Given the description of an element on the screen output the (x, y) to click on. 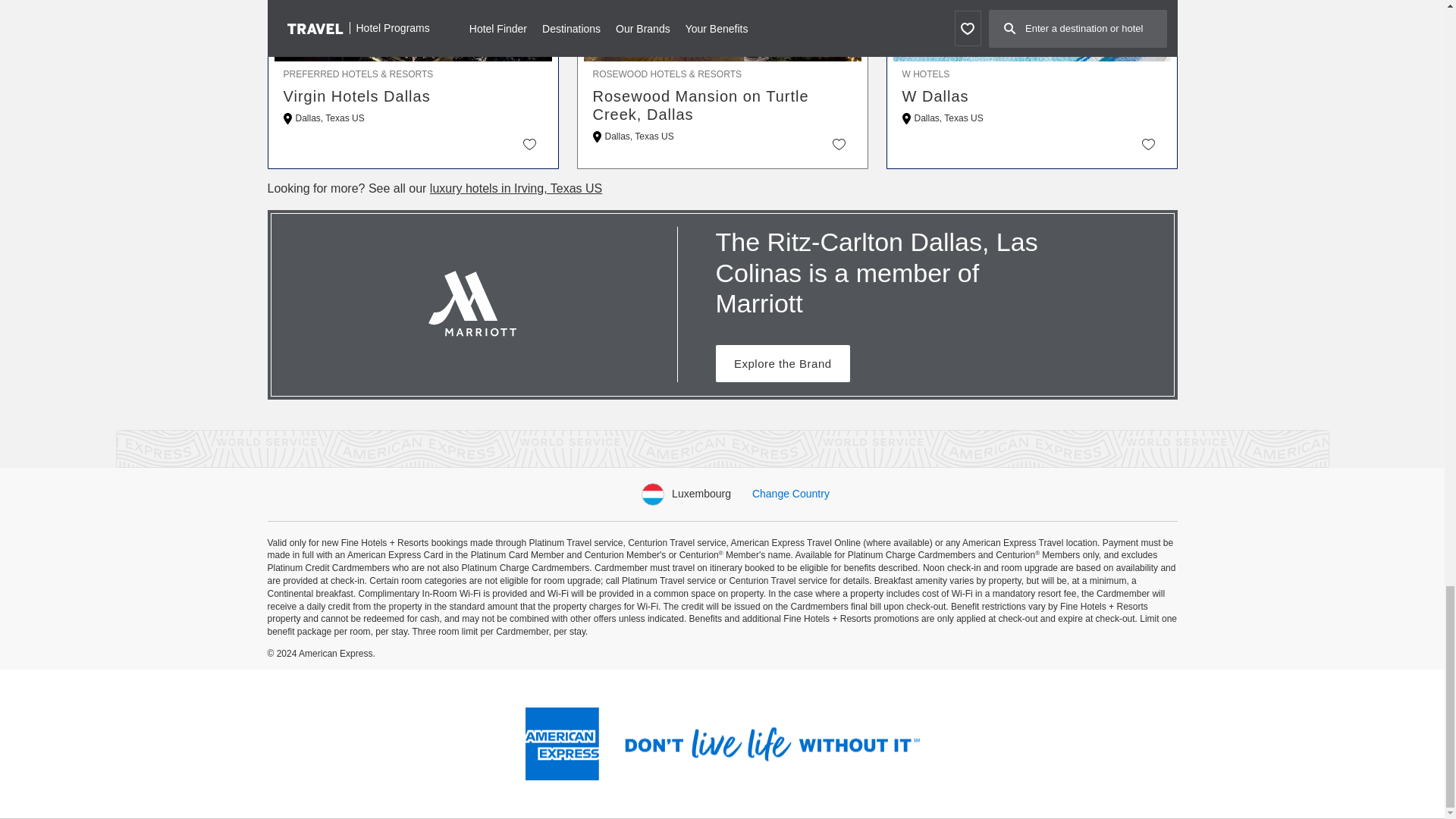
W Dallas (1031, 95)
Change Country (790, 493)
Explore the Brand (783, 363)
Rosewood Mansion on Turtle Creek, Dallas (721, 104)
luxury hotels in Irving, Texas US (515, 187)
Virgin Hotels Dallas (413, 95)
